Given the description of an element on the screen output the (x, y) to click on. 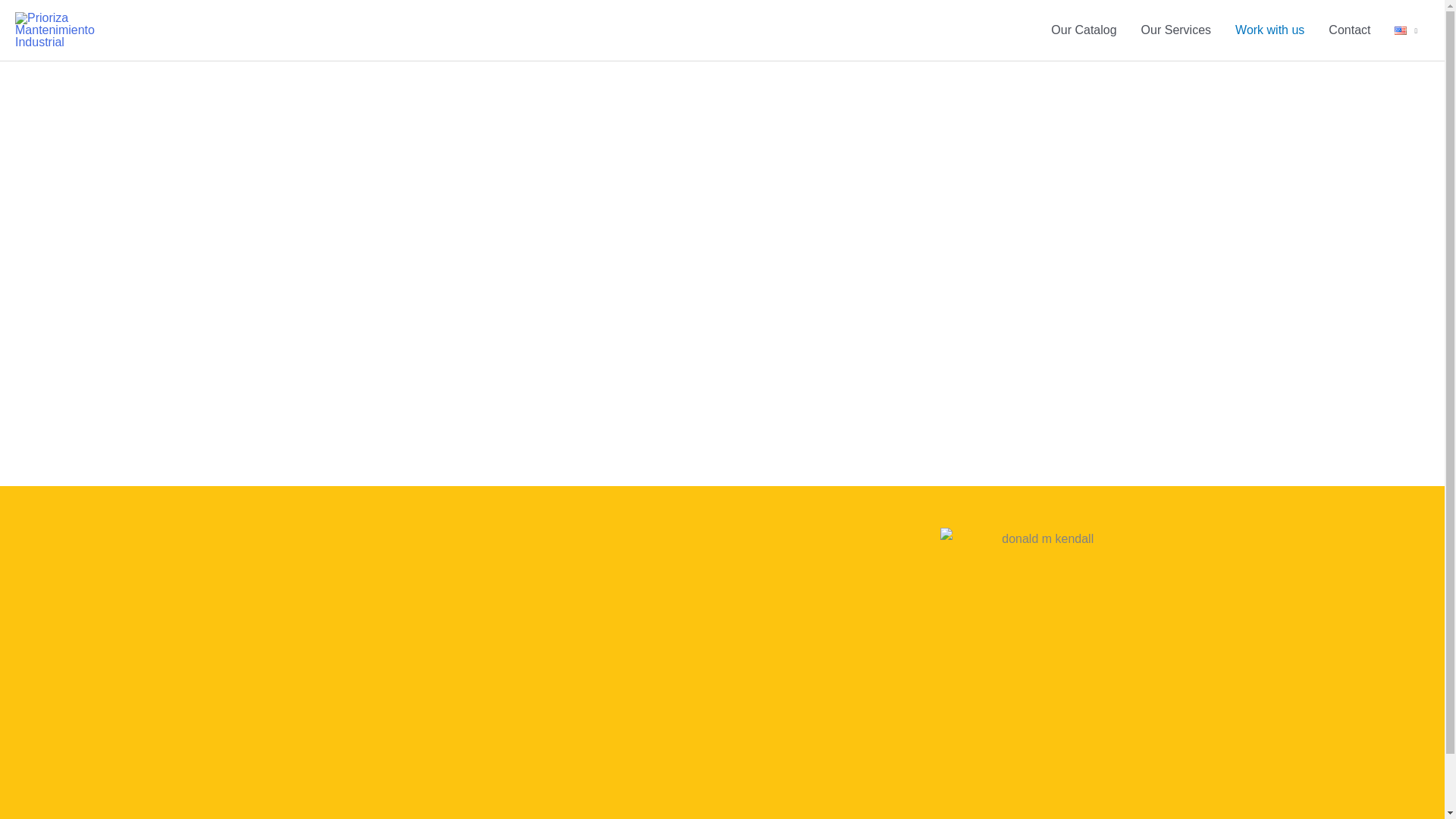
Work with us (1269, 30)
Our Catalog (1083, 30)
Contact (1348, 30)
Our Services (1176, 30)
